Given the description of an element on the screen output the (x, y) to click on. 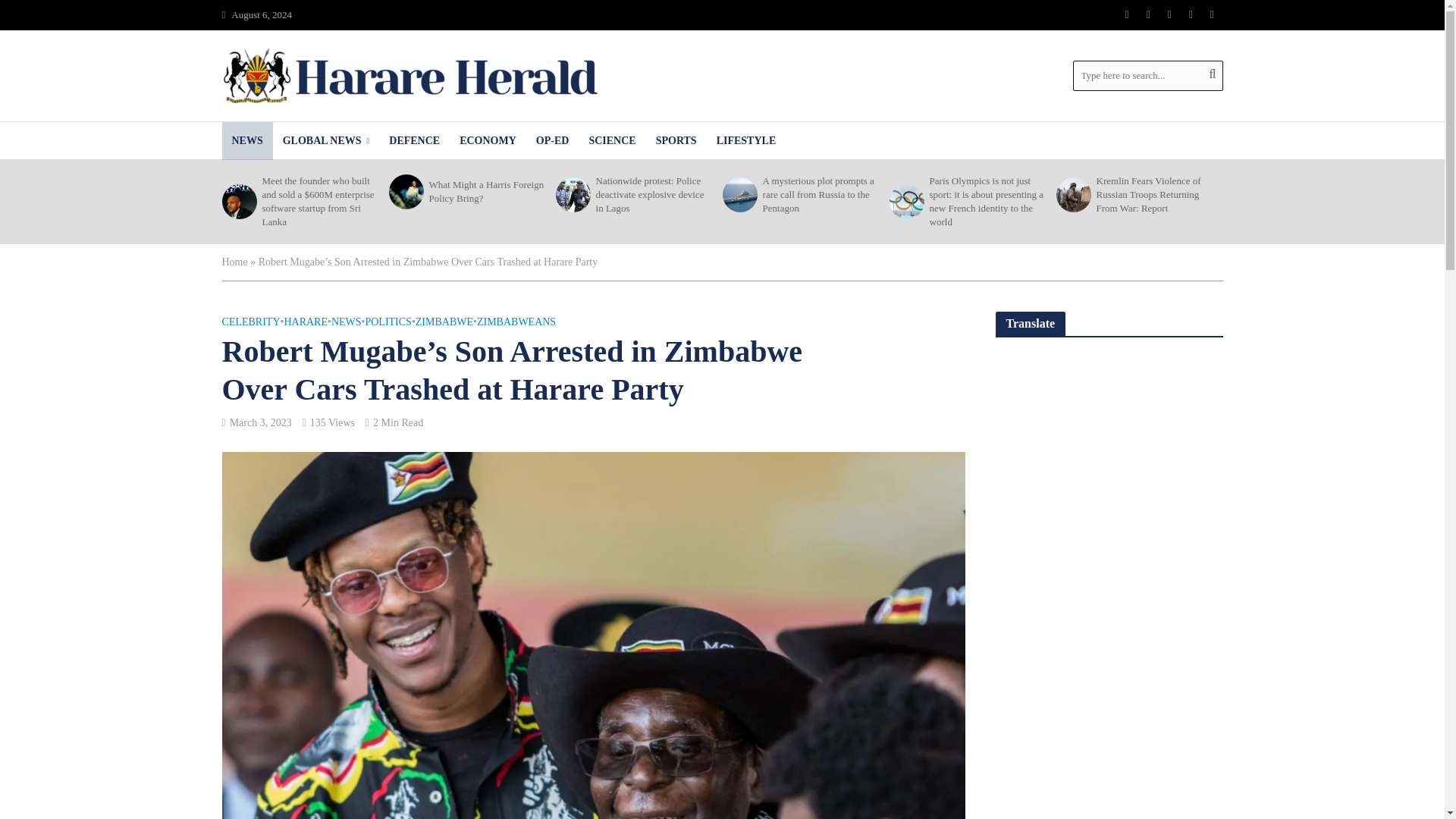
GLOBAL NEWS (326, 140)
What Might a Harris Foreign Policy Bring? (404, 191)
NEWS (246, 140)
